Given the description of an element on the screen output the (x, y) to click on. 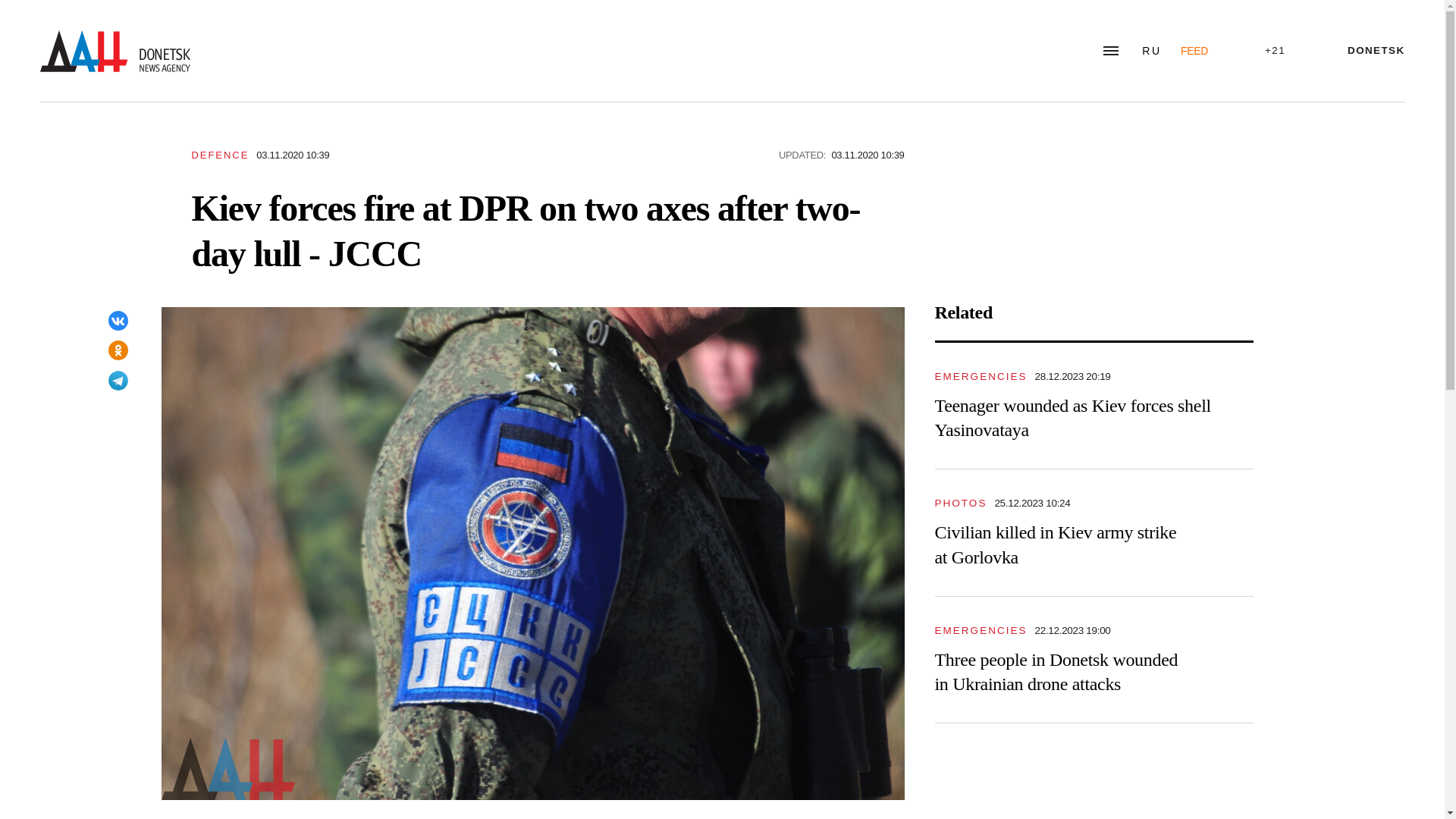
Odnoklassniki (117, 350)
News feed (1194, 50)
EMERGENCIES (980, 376)
RU (1151, 50)
FEED (1194, 50)
Telegram (117, 380)
DEFENCE (219, 154)
PHOTOS (960, 502)
Three people in Donetsk wounded in Ukrainian drone attacks (1055, 671)
Russian (1151, 50)
